Given the description of an element on the screen output the (x, y) to click on. 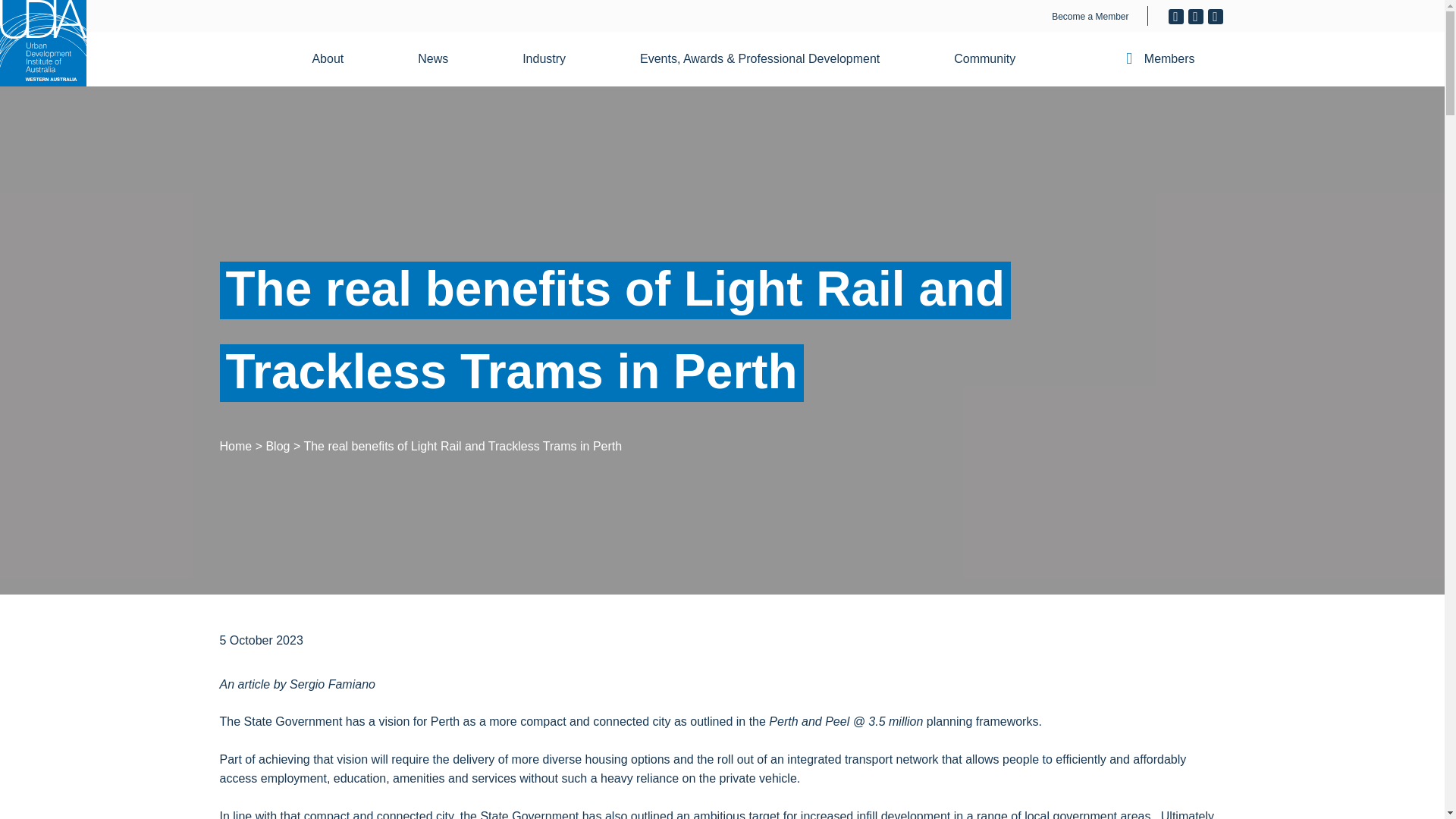
About (336, 59)
Become a Member (1089, 16)
Logo (42, 43)
Industry (553, 59)
News (442, 59)
